Given the description of an element on the screen output the (x, y) to click on. 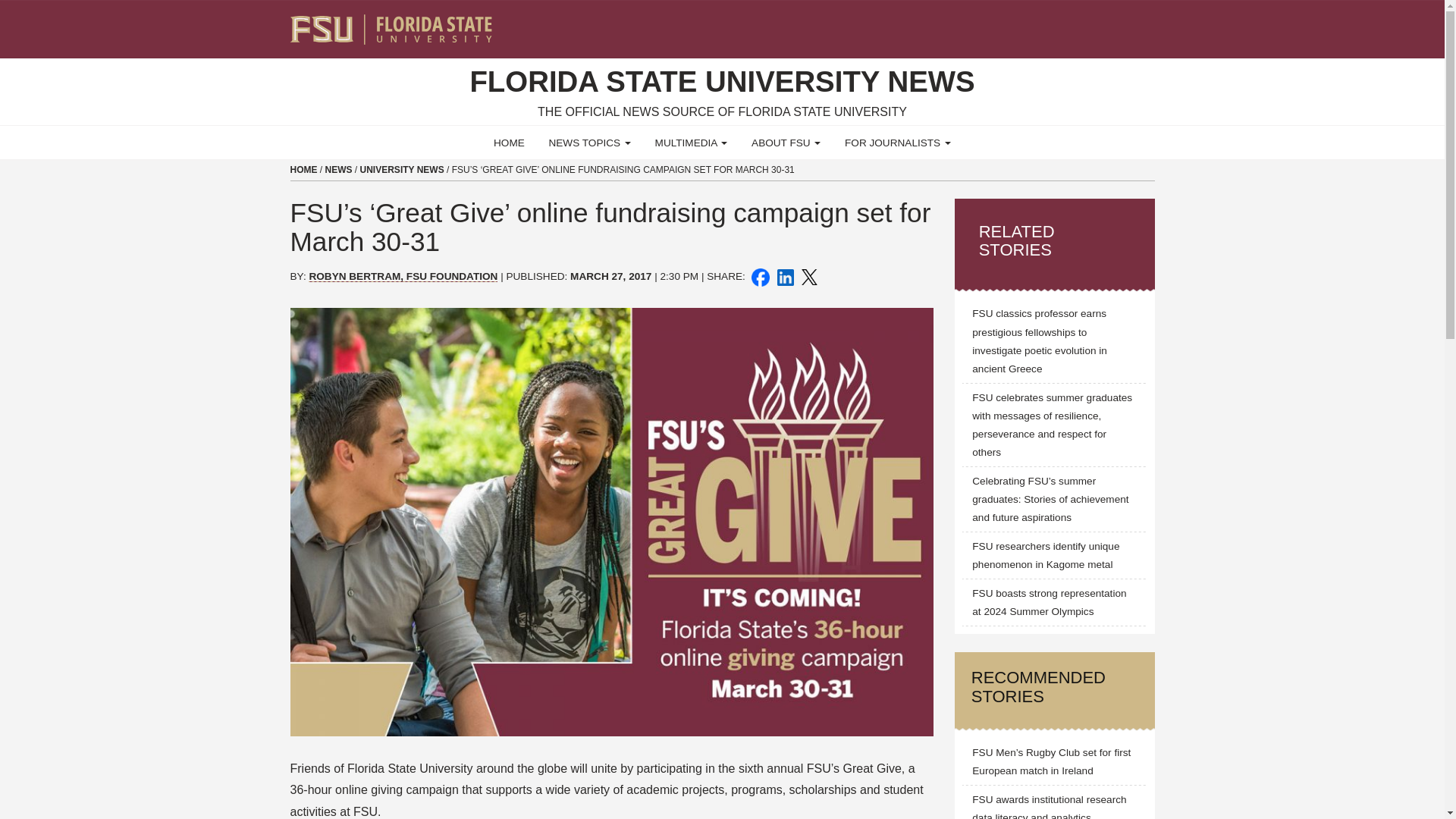
FSU Webmail (1112, 23)
Navigation (1152, 23)
Skip to content (5, 5)
